Given the description of an element on the screen output the (x, y) to click on. 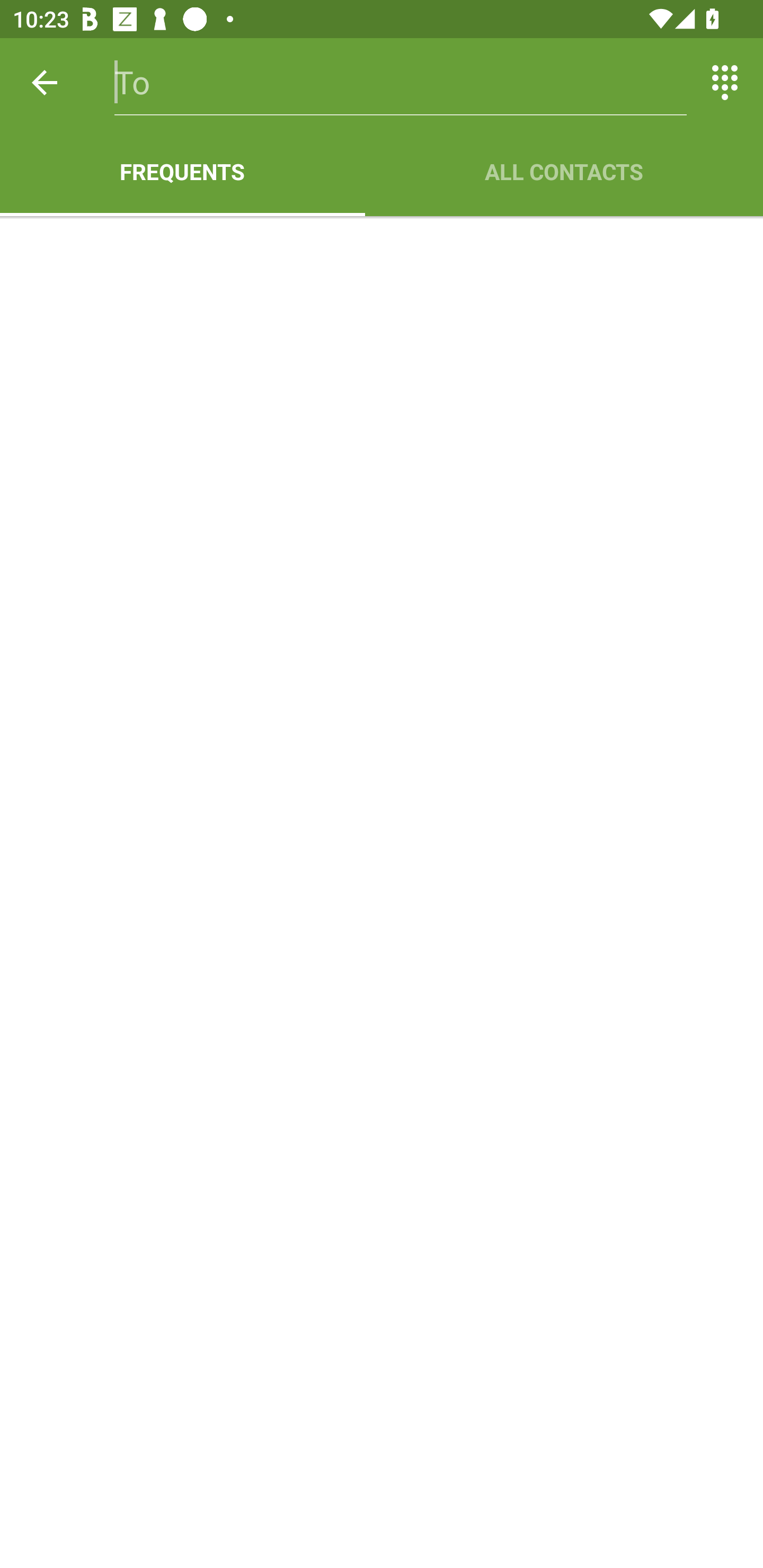
Back (44, 82)
Switch between entering text and numbers (724, 81)
To (400, 82)
FREQUENTS (182, 171)
ALL CONTACTS (563, 171)
